Given the description of an element on the screen output the (x, y) to click on. 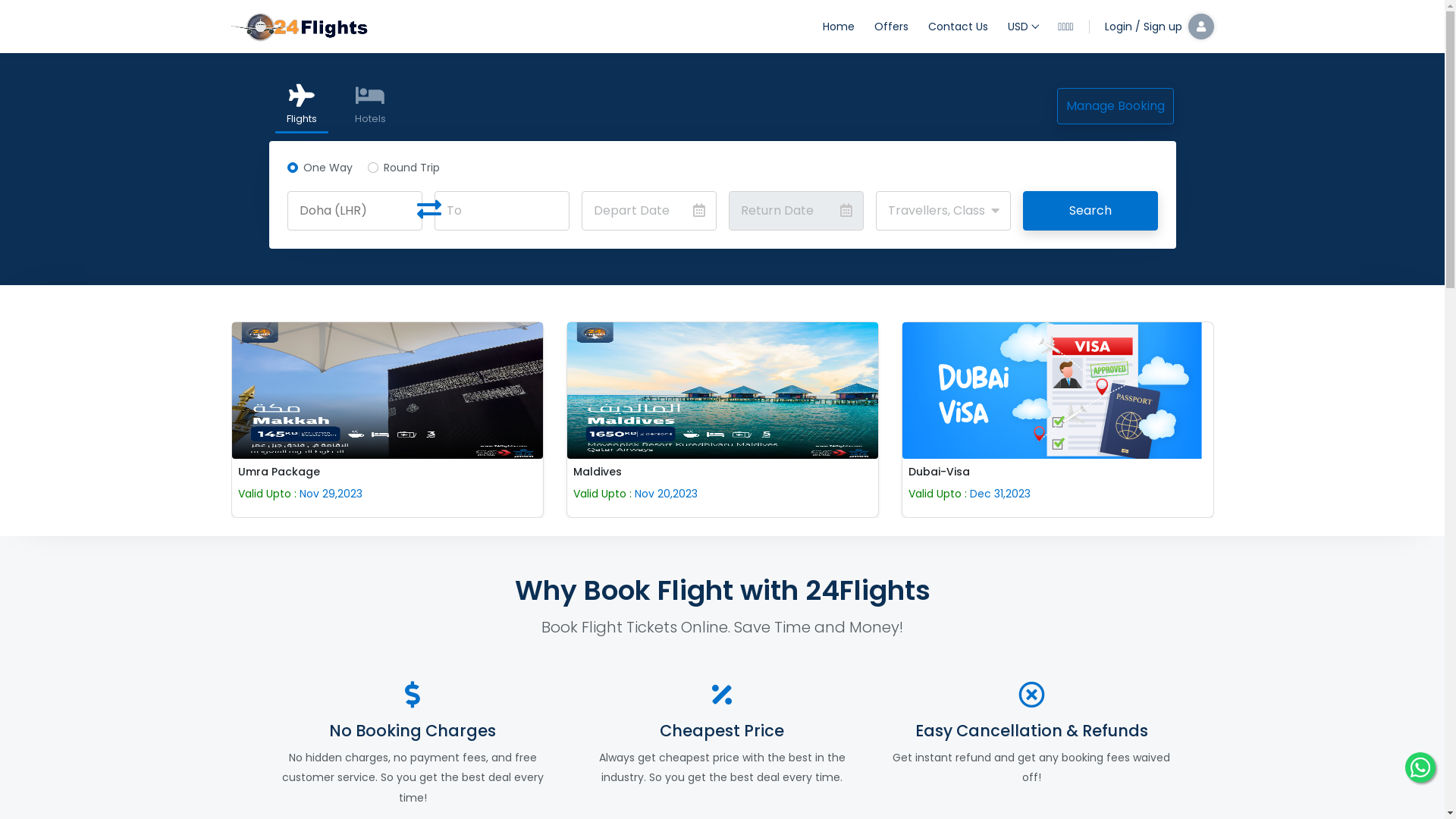
USD Element type: text (1022, 26)
Manage Booking Element type: text (1115, 105)
Contact Us Element type: text (958, 26)
24flights Element type: hover (299, 26)
Home Element type: text (839, 26)
Login / Sign up Element type: text (1154, 26)
Umra Package
Valid Upto : Nov 29,2023 Element type: text (386, 419)
Maldives
Valid Upto : Nov 20,2023 Element type: text (721, 419)
Flights Element type: text (300, 106)
Search Element type: text (1089, 210)
Dubai-Visa
Valid Upto : Dec 31,2023 Element type: text (1056, 419)
Hotels Element type: text (369, 105)
Offers Element type: text (891, 26)
